Given the description of an element on the screen output the (x, y) to click on. 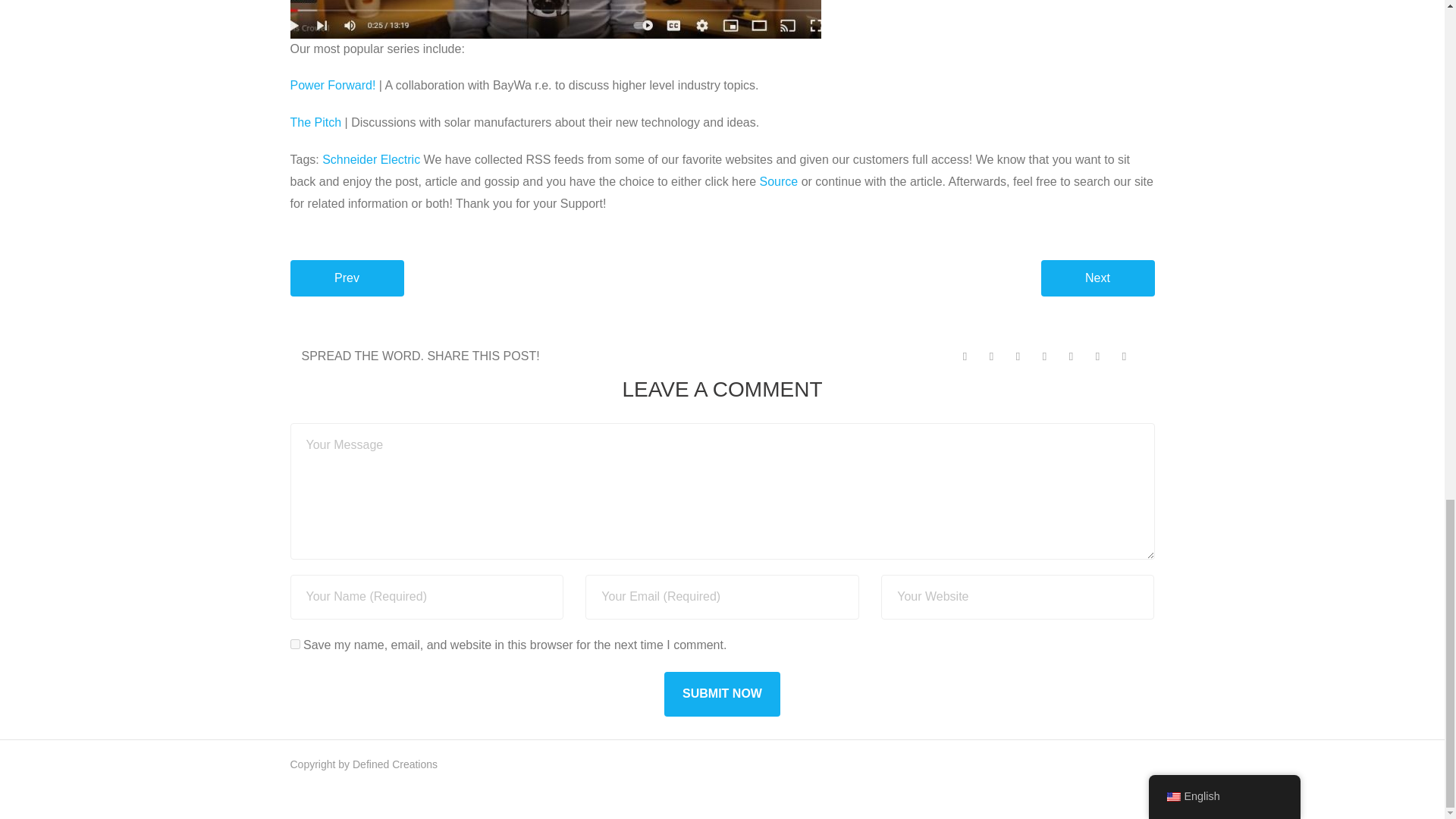
Power Forward! (332, 84)
The Pitch (314, 122)
Prev (346, 278)
yes (294, 644)
Source (778, 181)
Schneider Electric (370, 159)
Submit Now (721, 693)
